Given the description of an element on the screen output the (x, y) to click on. 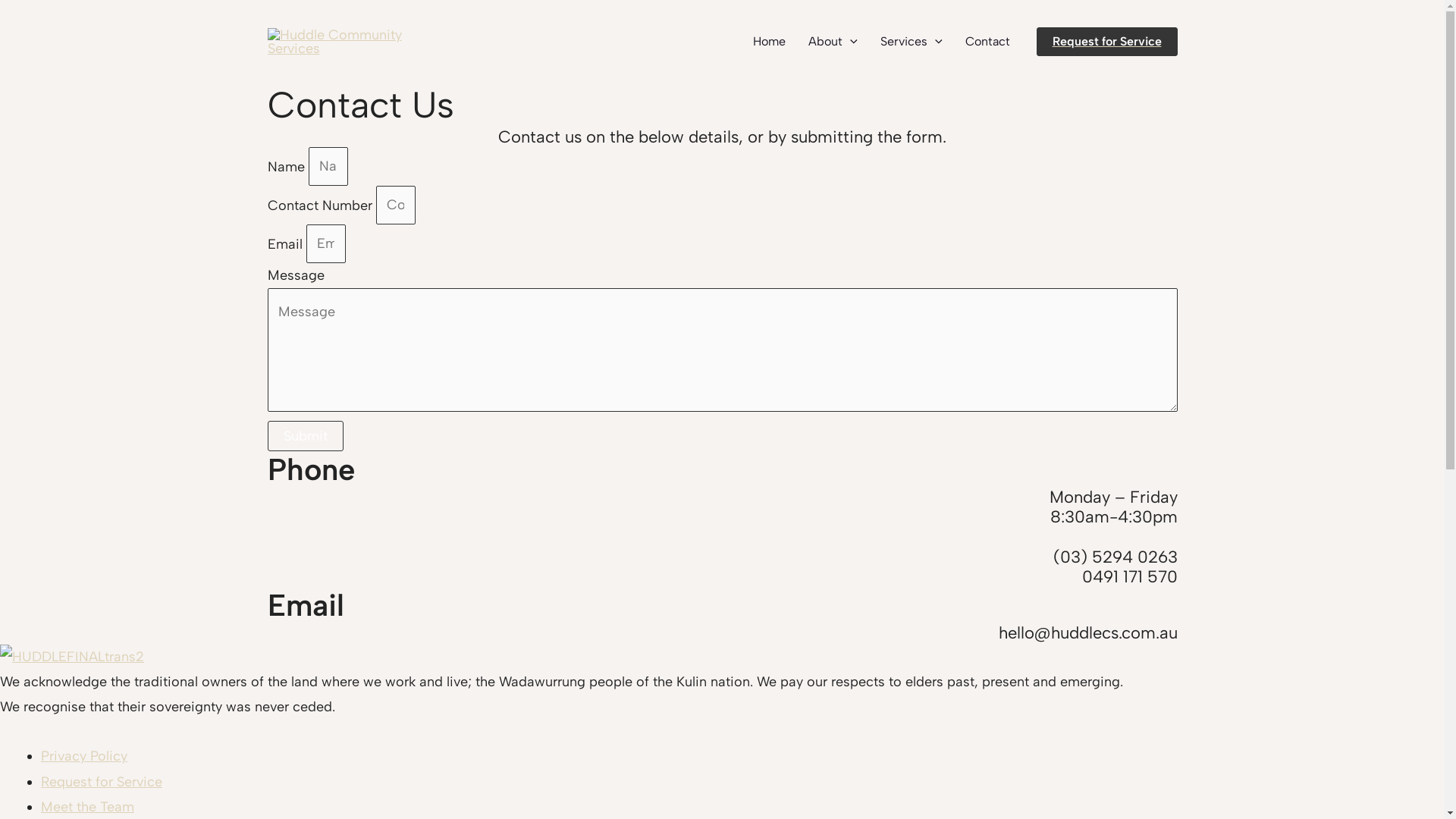
Contact Element type: text (987, 41)
Services Element type: text (911, 41)
HUDDLEFINALtrans2 Element type: hover (72, 656)
Request for Service Element type: text (101, 781)
Meet the Team Element type: text (87, 806)
Submit Element type: text (304, 435)
Home Element type: text (769, 41)
About Element type: text (833, 41)
Privacy Policy Element type: text (83, 755)
Request for Service Element type: text (1105, 41)
